Given the description of an element on the screen output the (x, y) to click on. 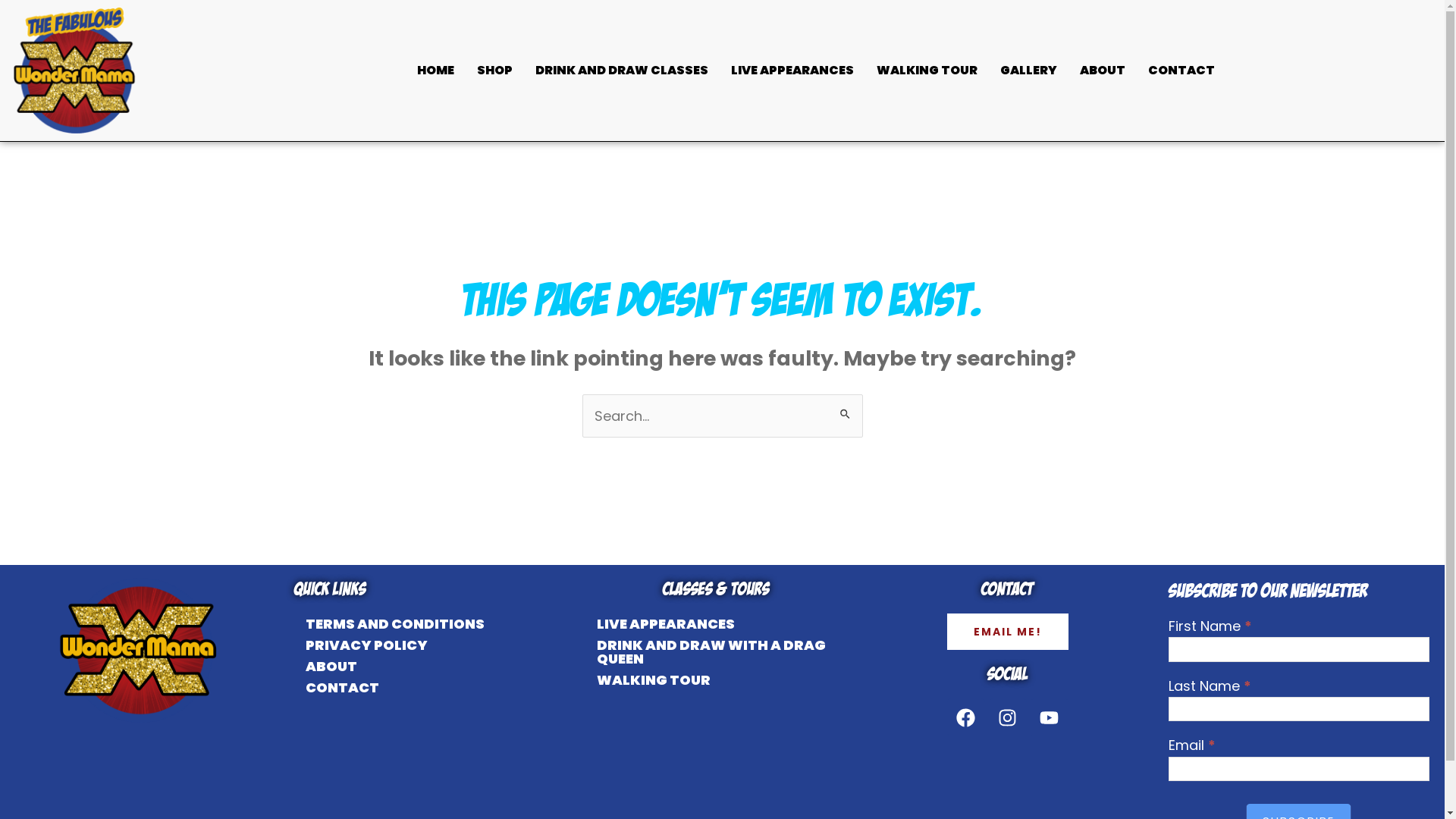
Facebook Element type: text (966, 717)
TERMS AND CONDITIONS Element type: text (394, 623)
LIVE APPEARANCES Element type: text (792, 70)
Search Element type: text (845, 409)
SHOP Element type: text (494, 70)
Youtube Element type: text (1049, 717)
HOME Element type: text (435, 70)
CONTACT Element type: text (1181, 70)
Instagram Element type: text (1007, 717)
PRIVACY POLICY Element type: text (394, 644)
DRINK AND DRAW CLASSES Element type: text (621, 70)
CONTACT Element type: text (394, 687)
ABOUT Element type: text (394, 666)
WALKING TOUR Element type: text (715, 679)
WALKING TOUR Element type: text (926, 70)
ABOUT Element type: text (1102, 70)
LIVE APPEARANCES Element type: text (715, 623)
EMAIL ME! Element type: text (1007, 631)
DRINK AND DRAW WITH A DRAG QUEEN Element type: text (715, 651)
GALLERY Element type: text (1028, 70)
